Given the description of an element on the screen output the (x, y) to click on. 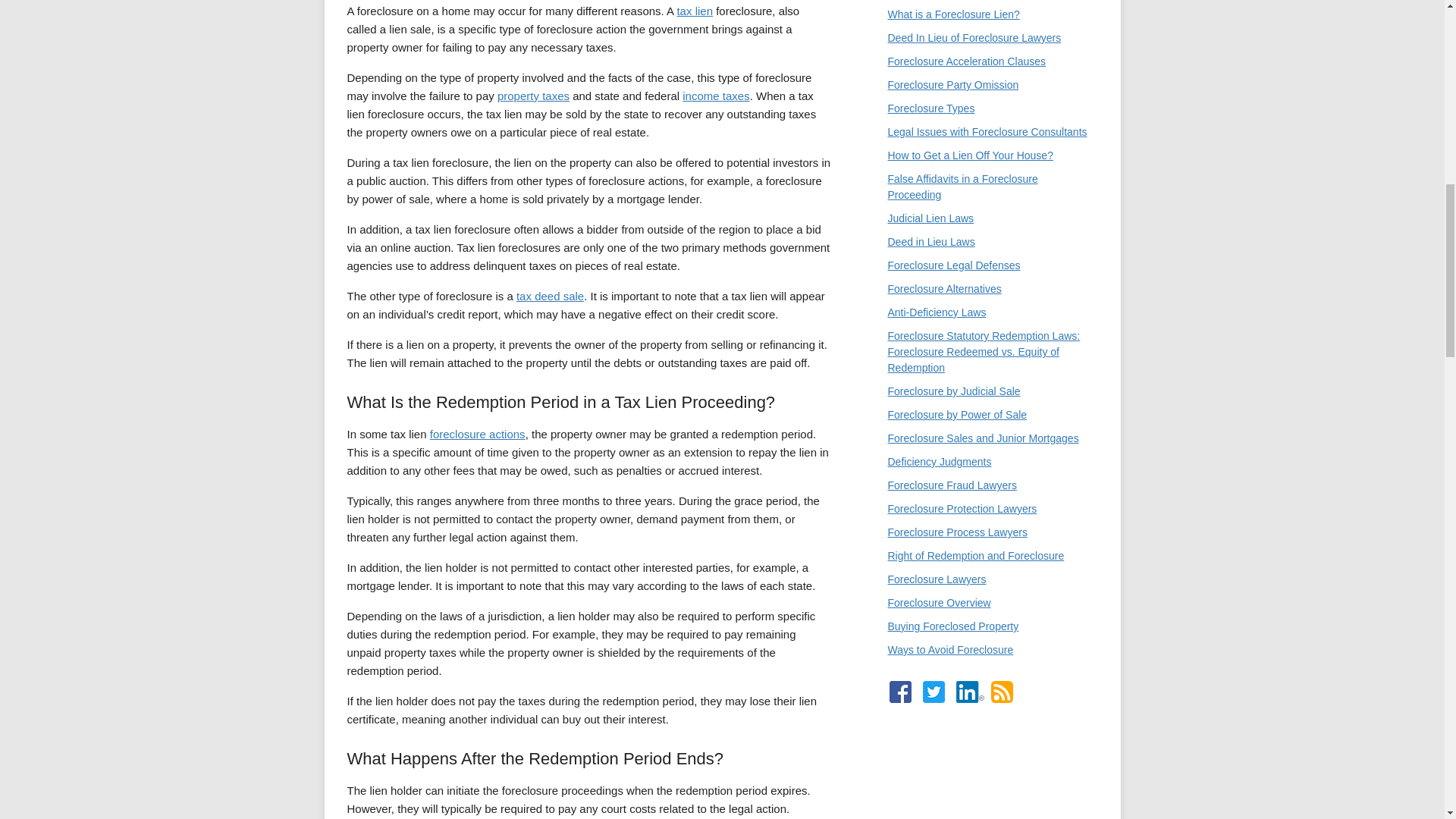
Follow us on LinkedIn (969, 691)
RSS Feed (1000, 691)
Follow us on Twitter (932, 691)
Like us on Facebook (899, 691)
